Given the description of an element on the screen output the (x, y) to click on. 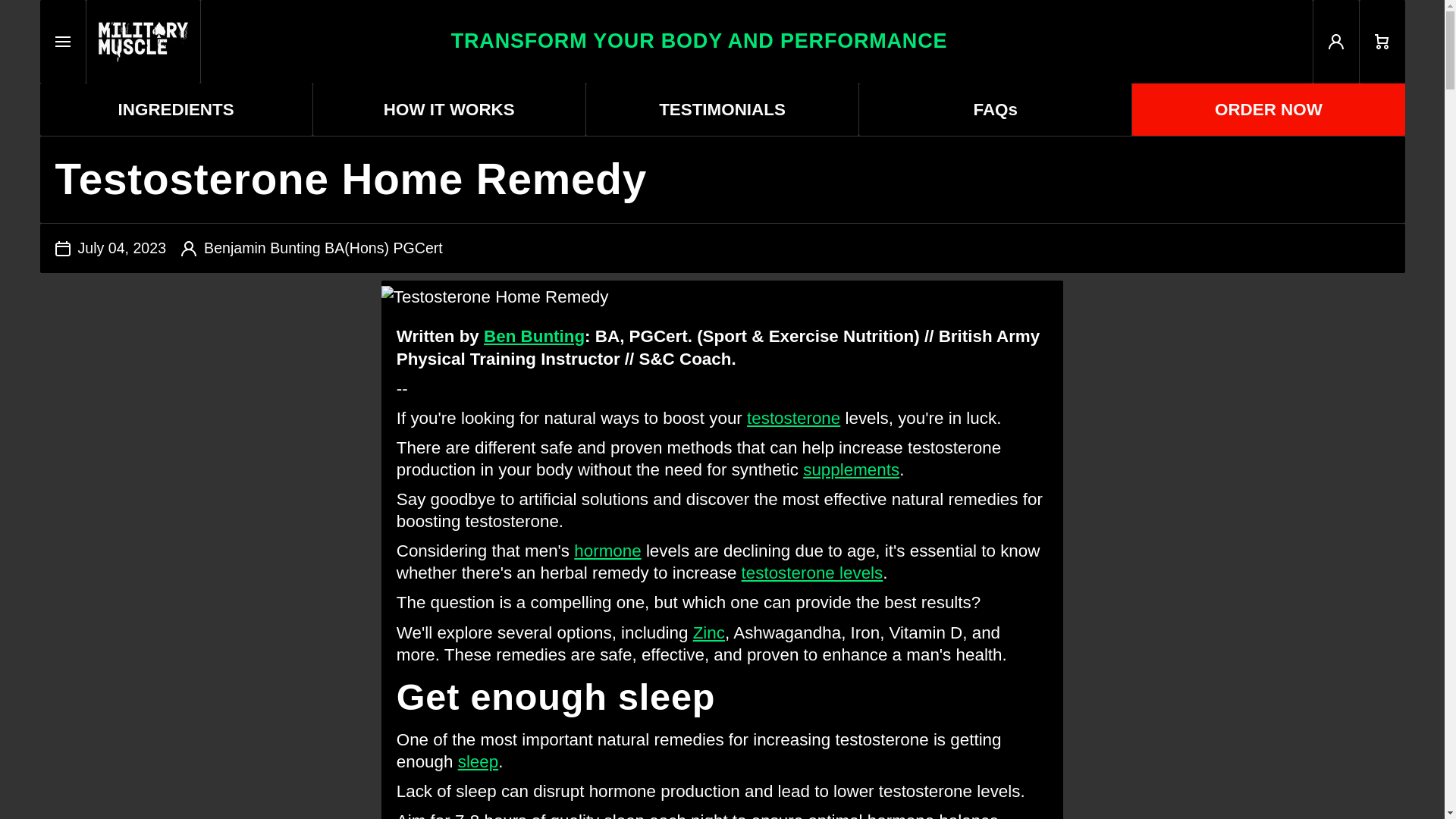
supplements (851, 469)
about us (534, 335)
Cart (1381, 41)
hormone (606, 550)
supplements (851, 469)
hormone (755, 41)
testosterone (606, 550)
HOW IT WORKS (793, 417)
testosterone levels (449, 109)
INGREDIENTS (812, 572)
FAQs (175, 109)
Zinc (995, 109)
Ben Bunting (709, 632)
ORDER NOW (534, 335)
